Given the description of an element on the screen output the (x, y) to click on. 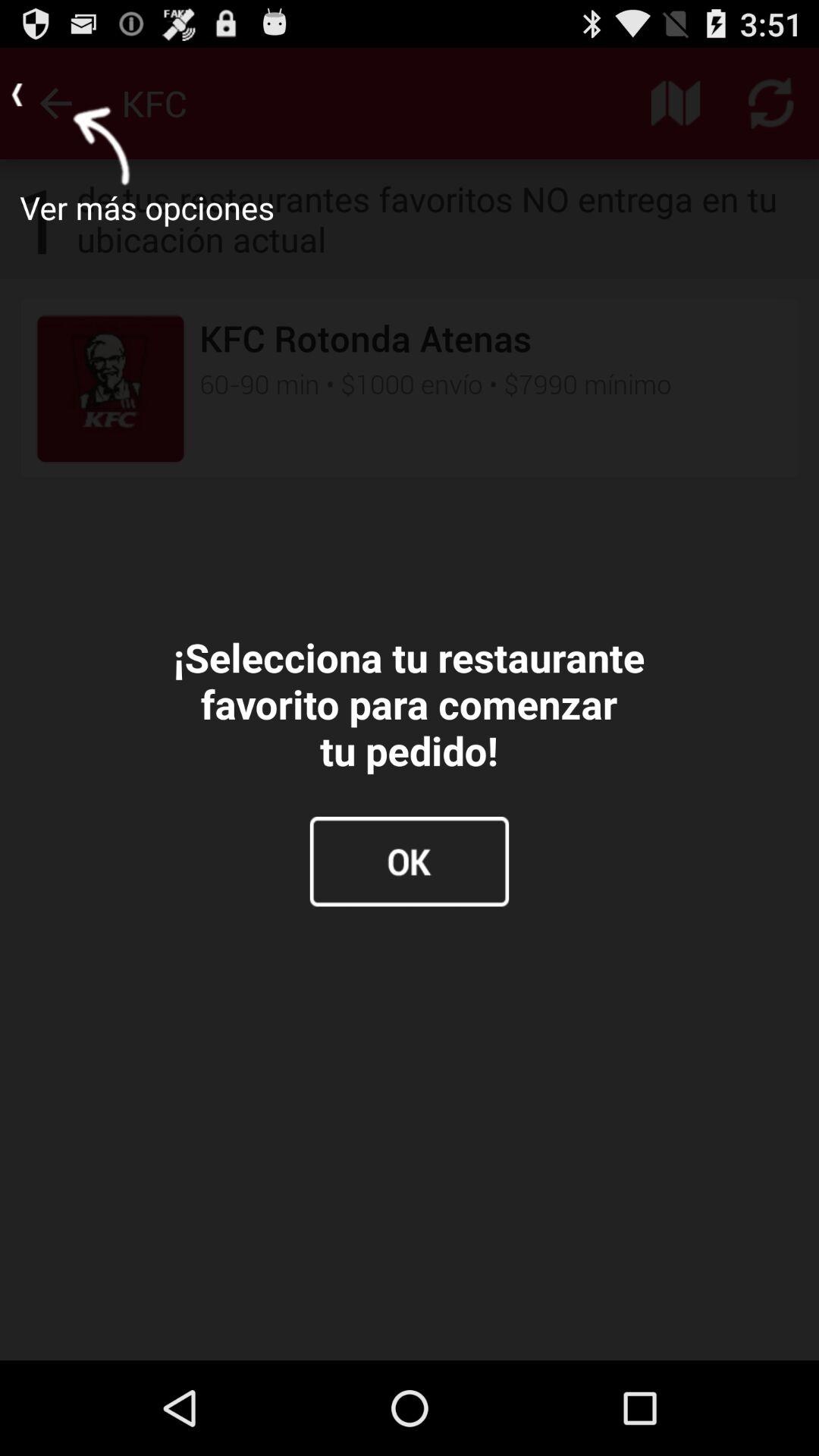
choose the item below the selecciona tu restaurante (409, 861)
